Given the description of an element on the screen output the (x, y) to click on. 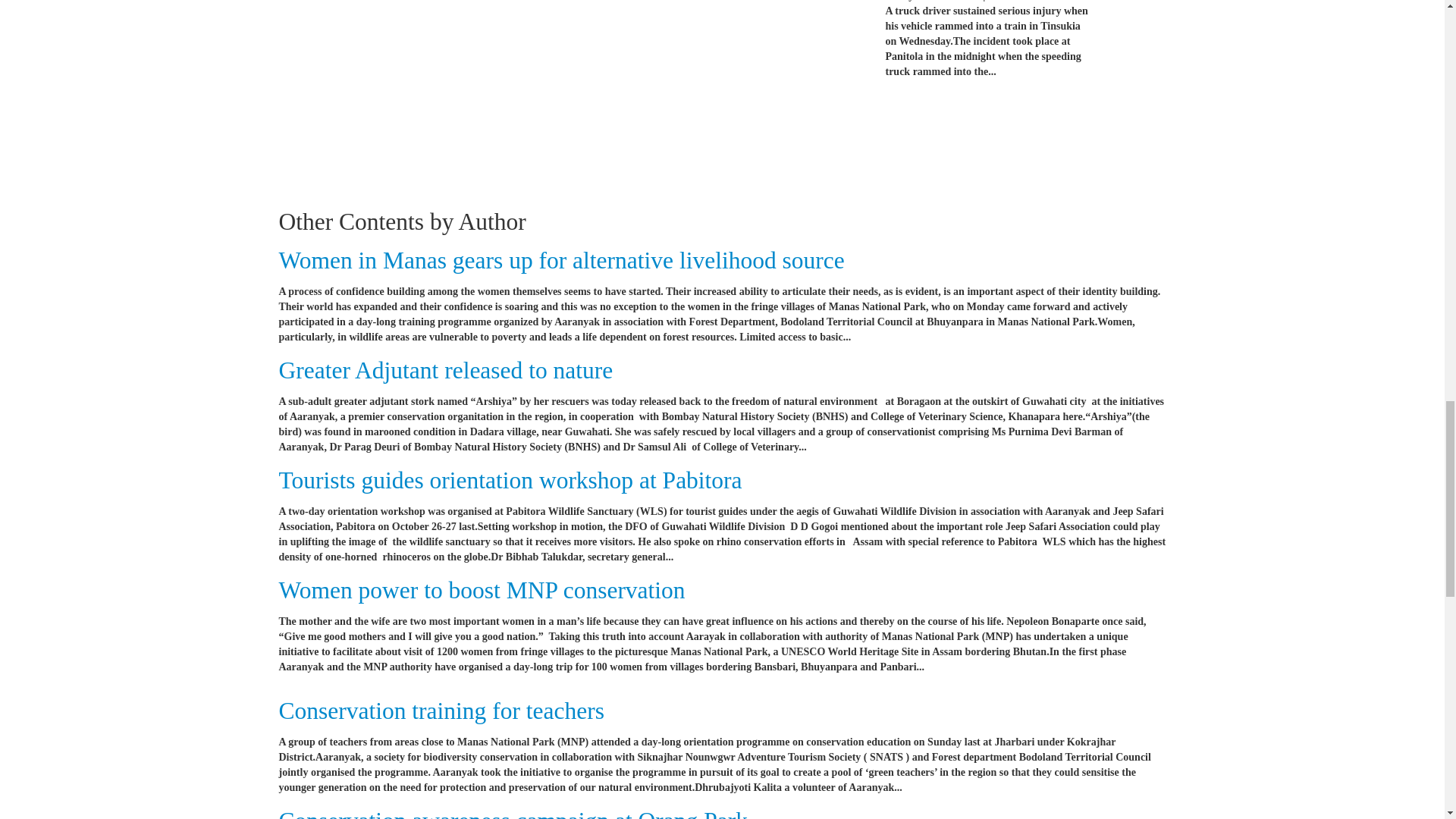
Conservation awareness campaign at Orang Park (513, 813)
AT News (1007, 0)
Conservation training for teachers (441, 710)
Women in Manas gears up for alternative livelihood source (561, 260)
Greater Adjutant released to nature (445, 370)
Tourists guides orientation workshop at Pabitora (510, 479)
Women power to boost MNP conservation (482, 590)
View user profile. (1007, 0)
